Given the description of an element on the screen output the (x, y) to click on. 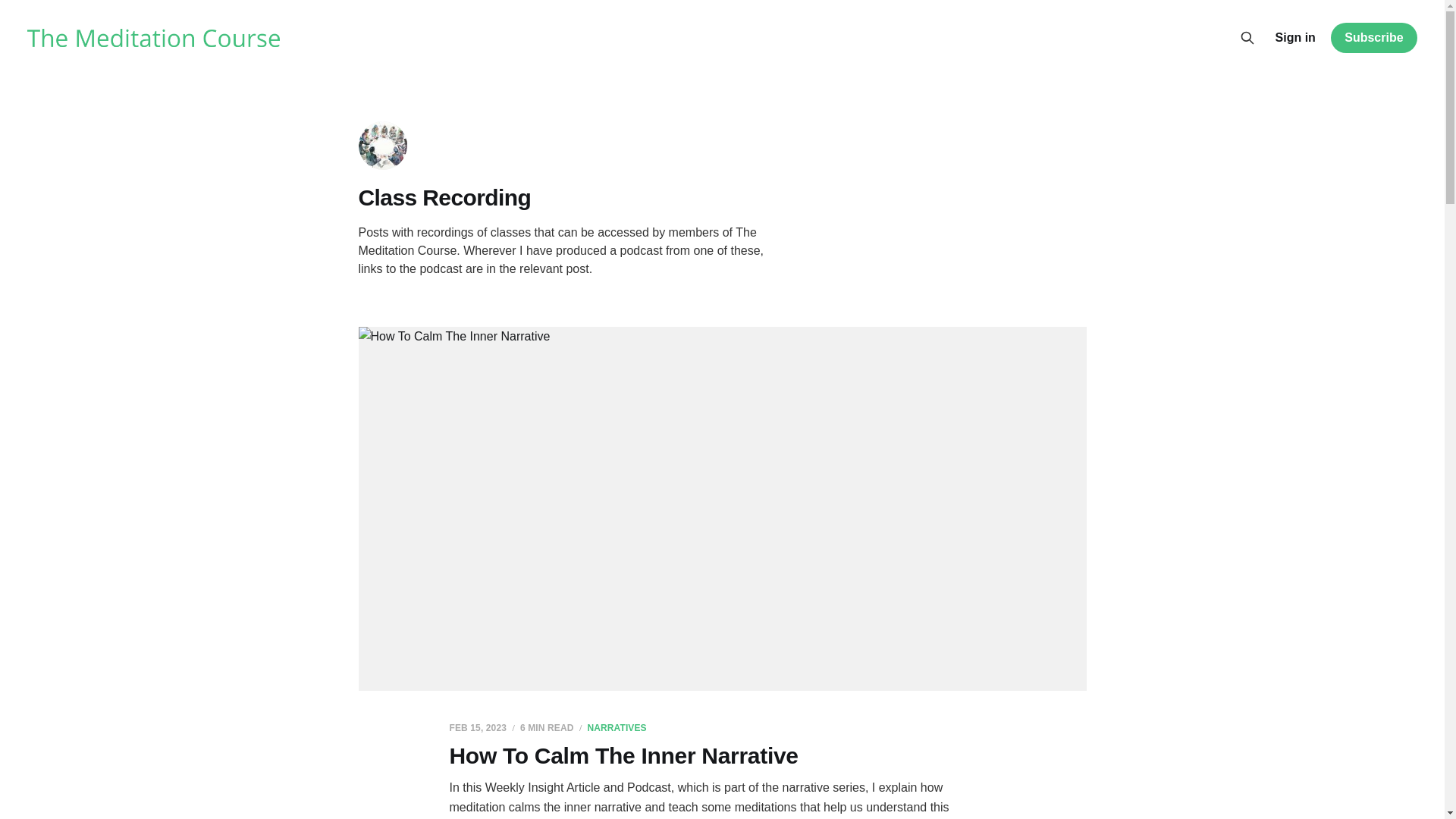
Sign in (1295, 37)
NARRATIVES (616, 726)
Narratives (616, 726)
How To Calm The Inner Narrative (622, 755)
Subscribe (1373, 37)
